Given the description of an element on the screen output the (x, y) to click on. 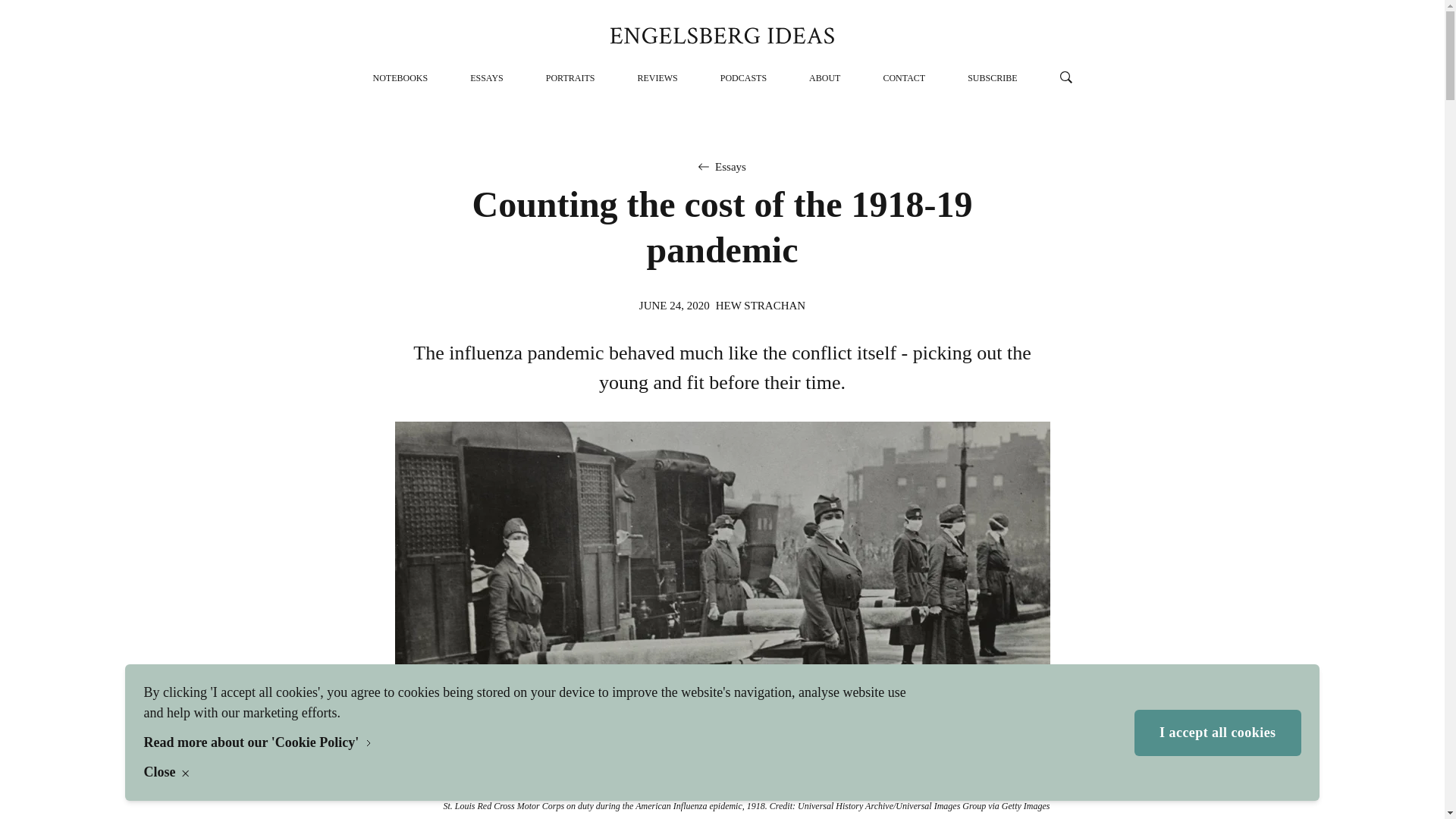
Engelsbergs Ideas (722, 35)
ABOUT (824, 78)
SUBSCRIBE (992, 78)
ESSAYS (486, 78)
CONTACT (903, 78)
PODCASTS (743, 78)
PORTRAITS (570, 78)
HEW STRACHAN (760, 304)
Essays (729, 166)
REVIEWS (657, 78)
NOTEBOOKS (400, 78)
